Given the description of an element on the screen output the (x, y) to click on. 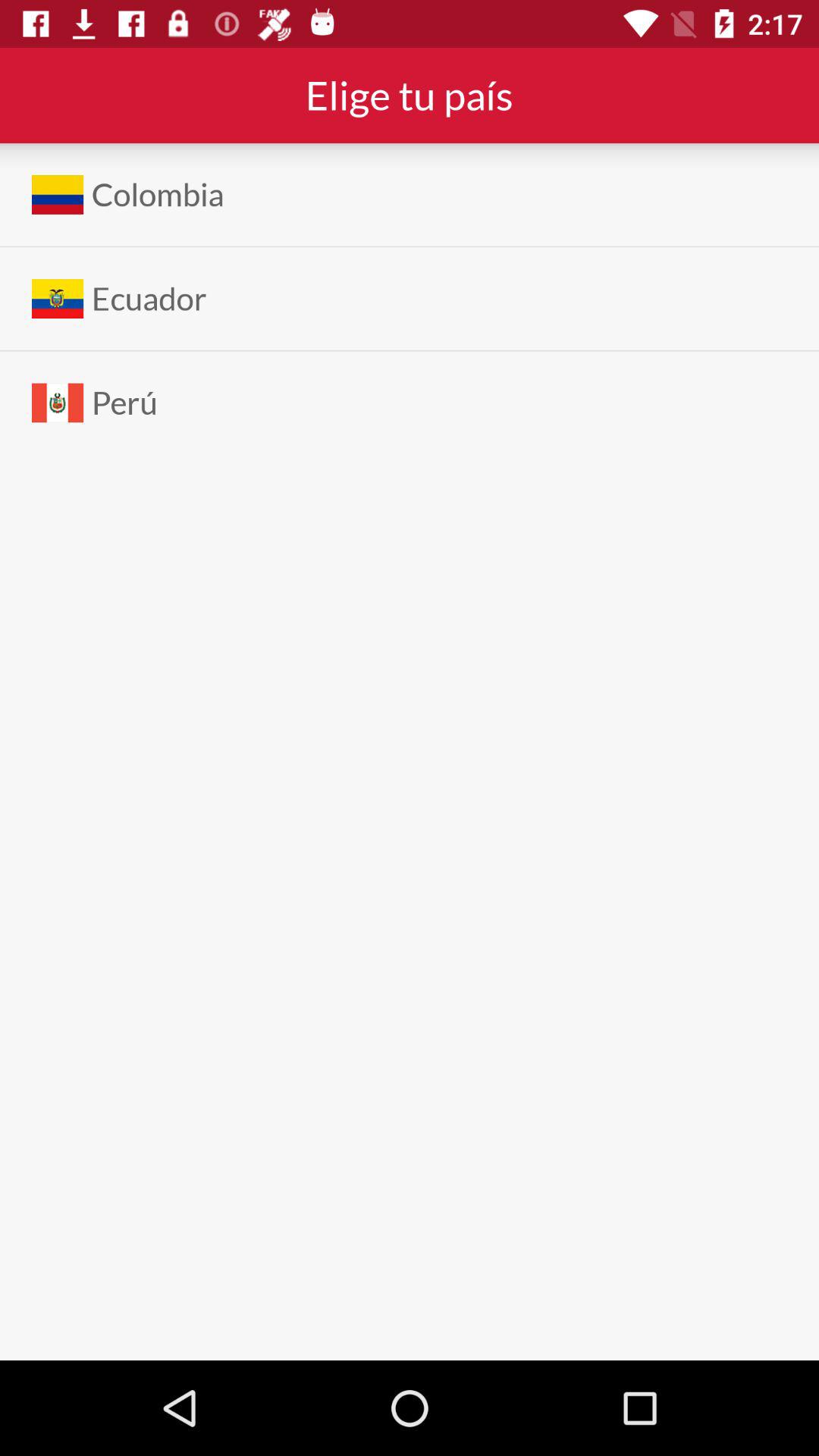
scroll until the ecuador item (149, 298)
